Given the description of an element on the screen output the (x, y) to click on. 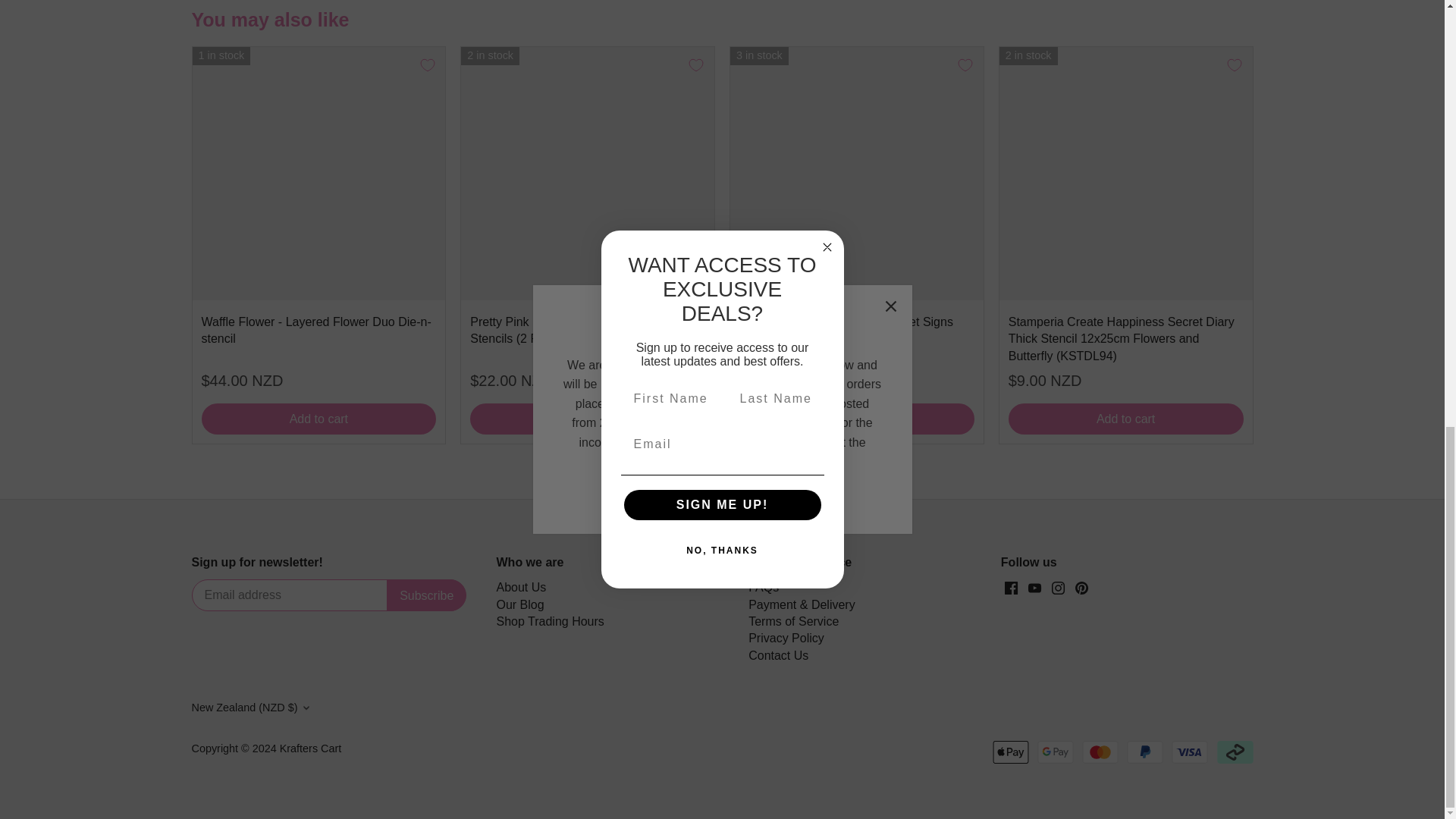
Youtube (1034, 587)
Facebook (1010, 587)
Instagram (1057, 587)
Subscribe (426, 594)
